Given the description of an element on the screen output the (x, y) to click on. 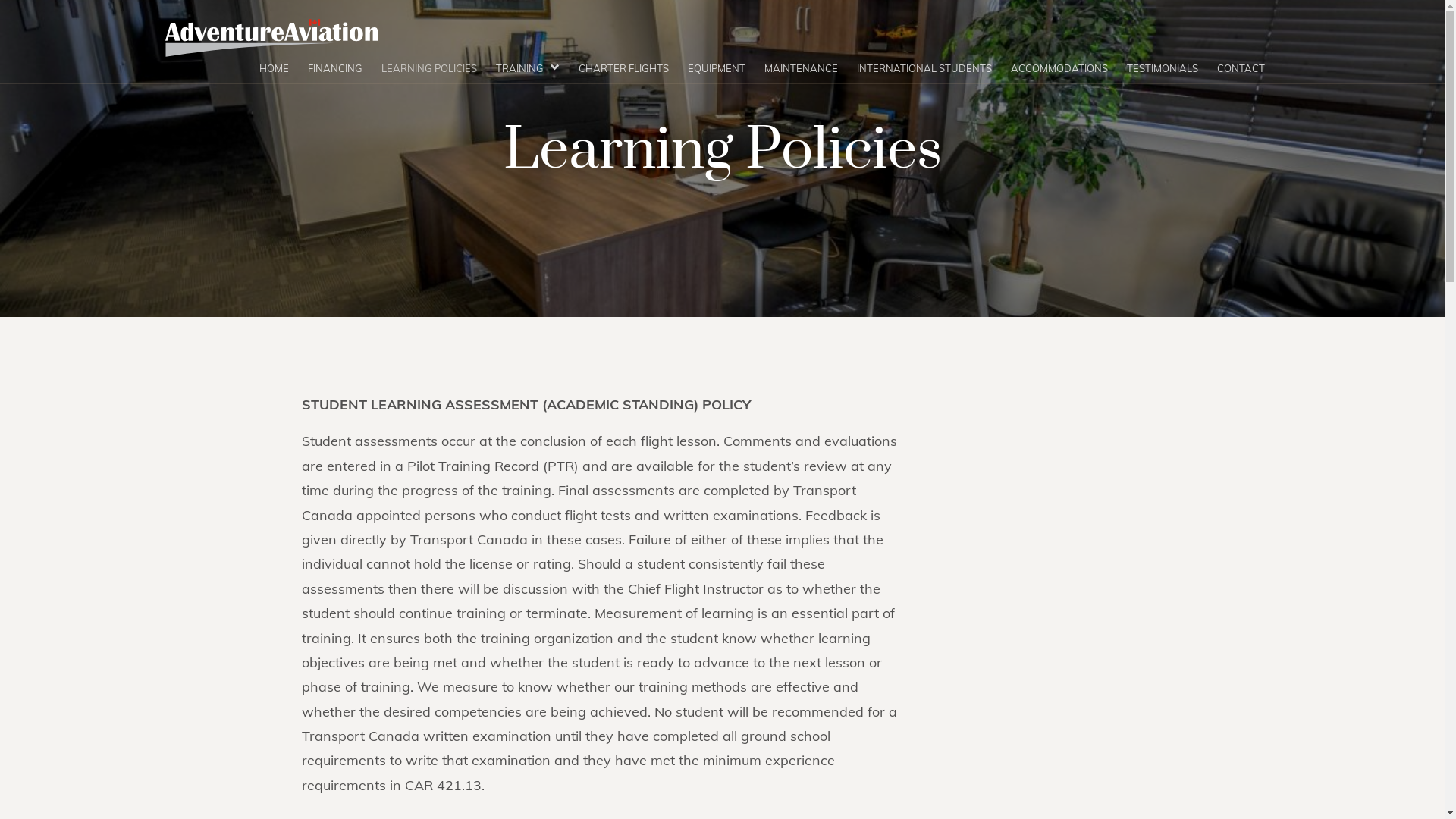
TRAINING Element type: text (527, 68)
LEARNING POLICIES Element type: text (428, 68)
INTERNATIONAL STUDENTS Element type: text (923, 68)
TESTIMONIALS Element type: text (1162, 68)
MAINTENANCE Element type: text (800, 68)
CONTACT Element type: text (1240, 68)
FINANCING Element type: text (334, 68)
HOME Element type: text (273, 68)
CHARTER FLIGHTS Element type: text (622, 68)
Adventure Aviation Element type: text (271, 41)
ACCOMMODATIONS Element type: text (1058, 68)
EQUIPMENT Element type: text (715, 68)
